Given the description of an element on the screen output the (x, y) to click on. 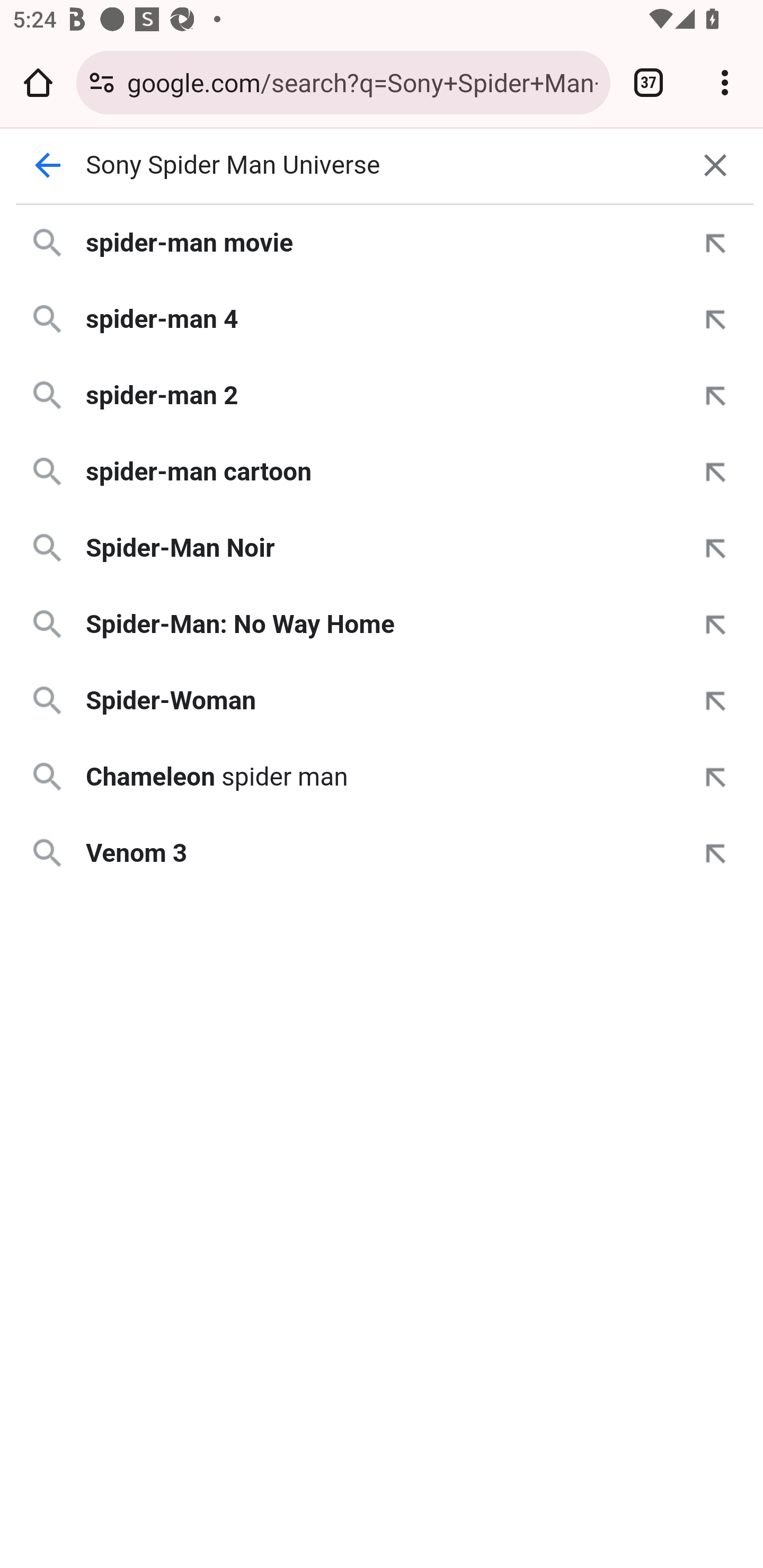
Open the home page (38, 82)
Connection is secure (101, 82)
Switch or close tabs (648, 82)
Customize and control Google Chrome (724, 82)
返回 (47, 165)
清除搜索 (715, 165)
Sony Spider Man Universe (381, 165)
